Given the description of an element on the screen output the (x, y) to click on. 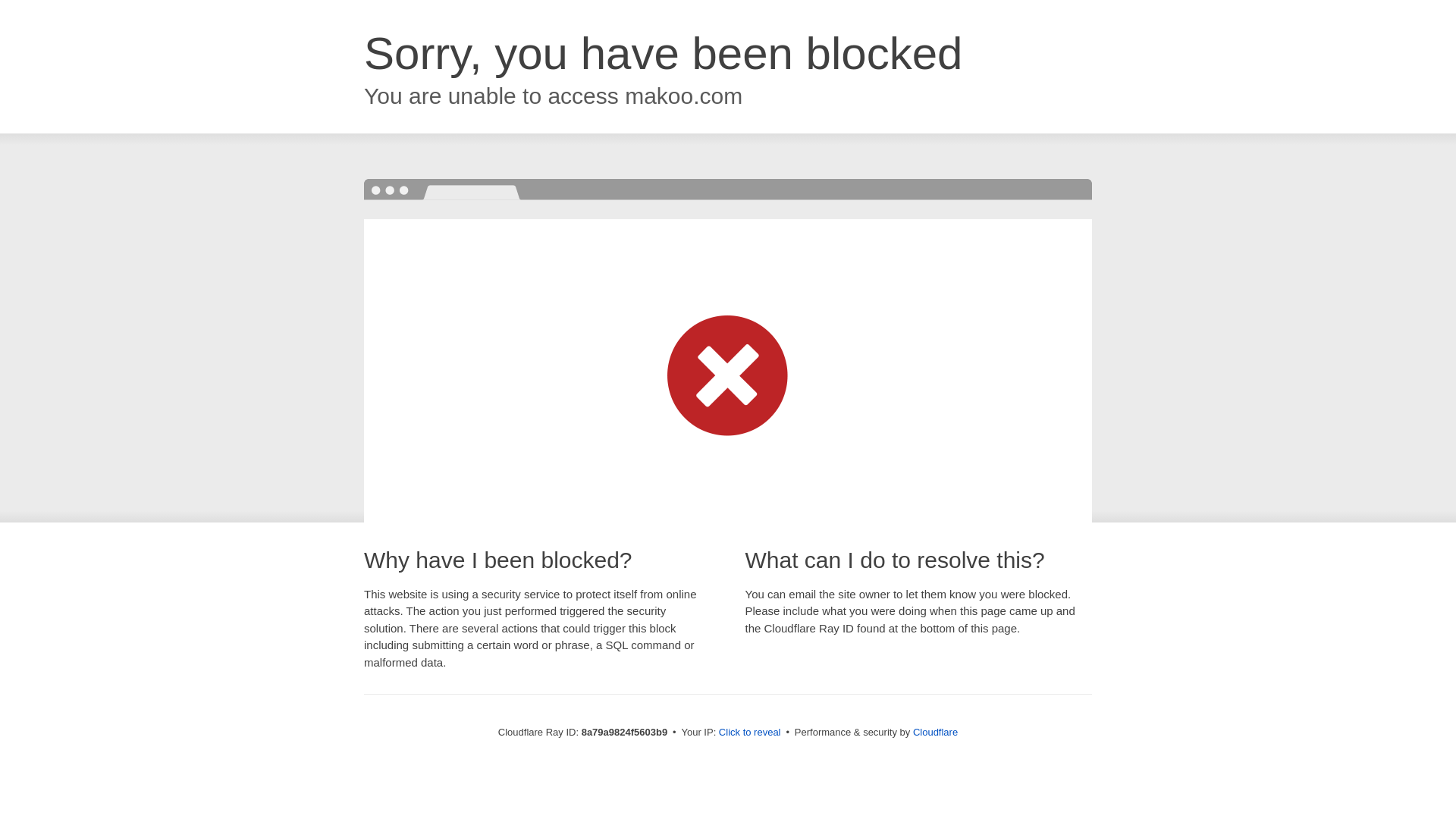
Click to reveal (749, 732)
Cloudflare (935, 731)
